Given the description of an element on the screen output the (x, y) to click on. 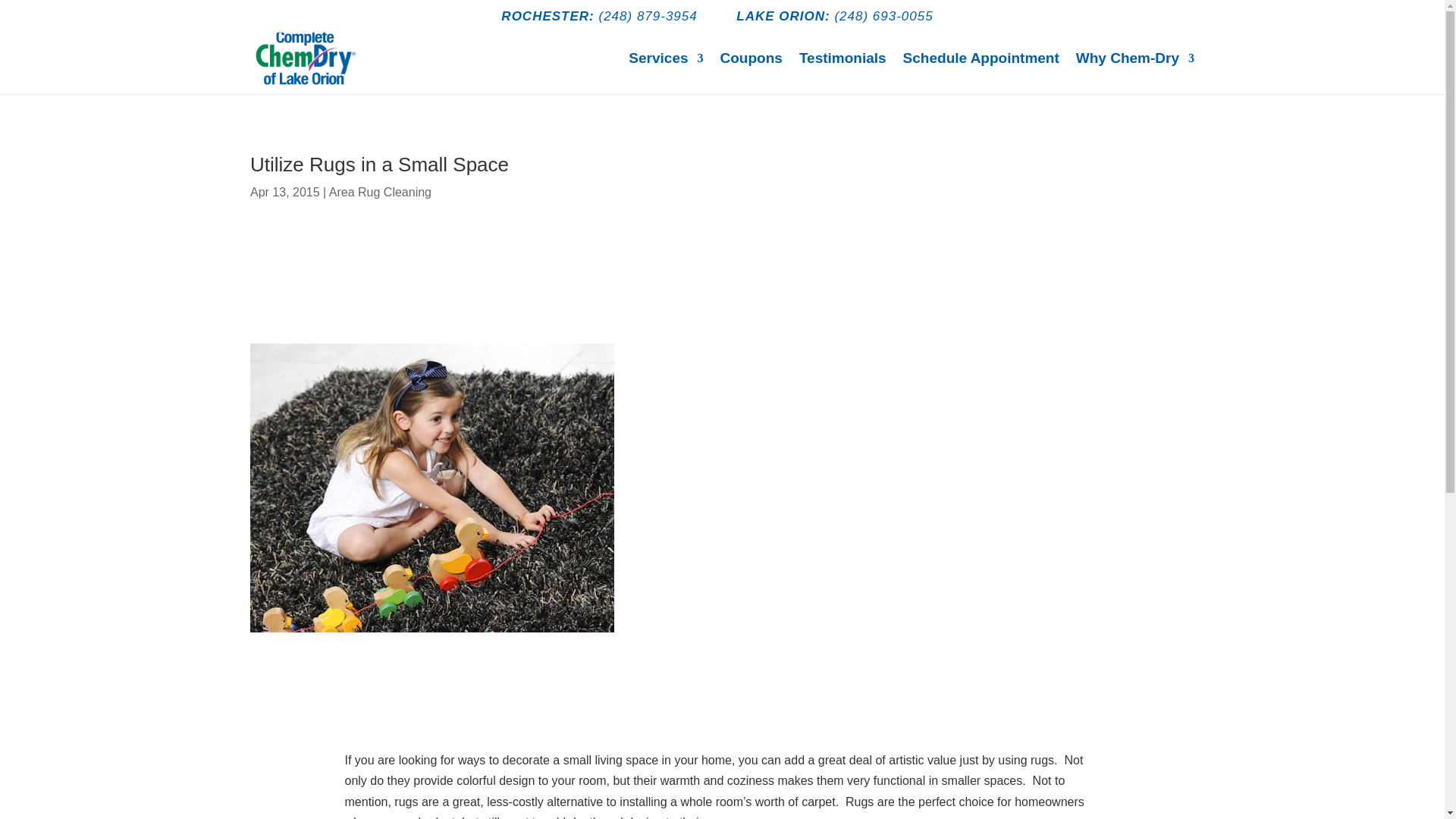
Cleaning Services (665, 73)
Schedule Appointment (980, 73)
Services (665, 73)
Why Chem-Dry (1134, 73)
Area Rug Cleaning (379, 192)
Testimonials (842, 73)
DomesticRugs (432, 487)
Coupons (751, 73)
